Given the description of an element on the screen output the (x, y) to click on. 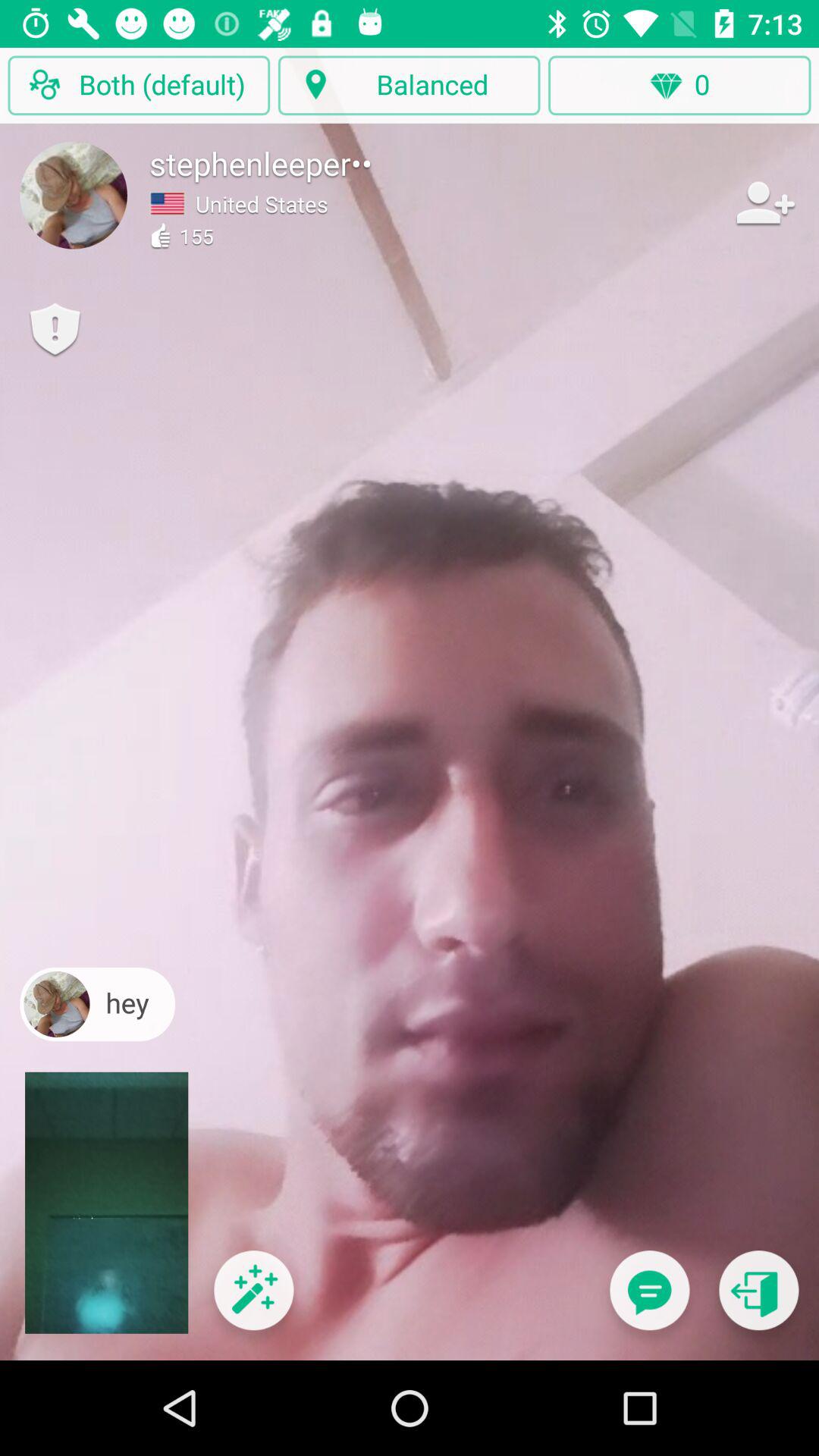
message button (649, 1300)
